Given the description of an element on the screen output the (x, y) to click on. 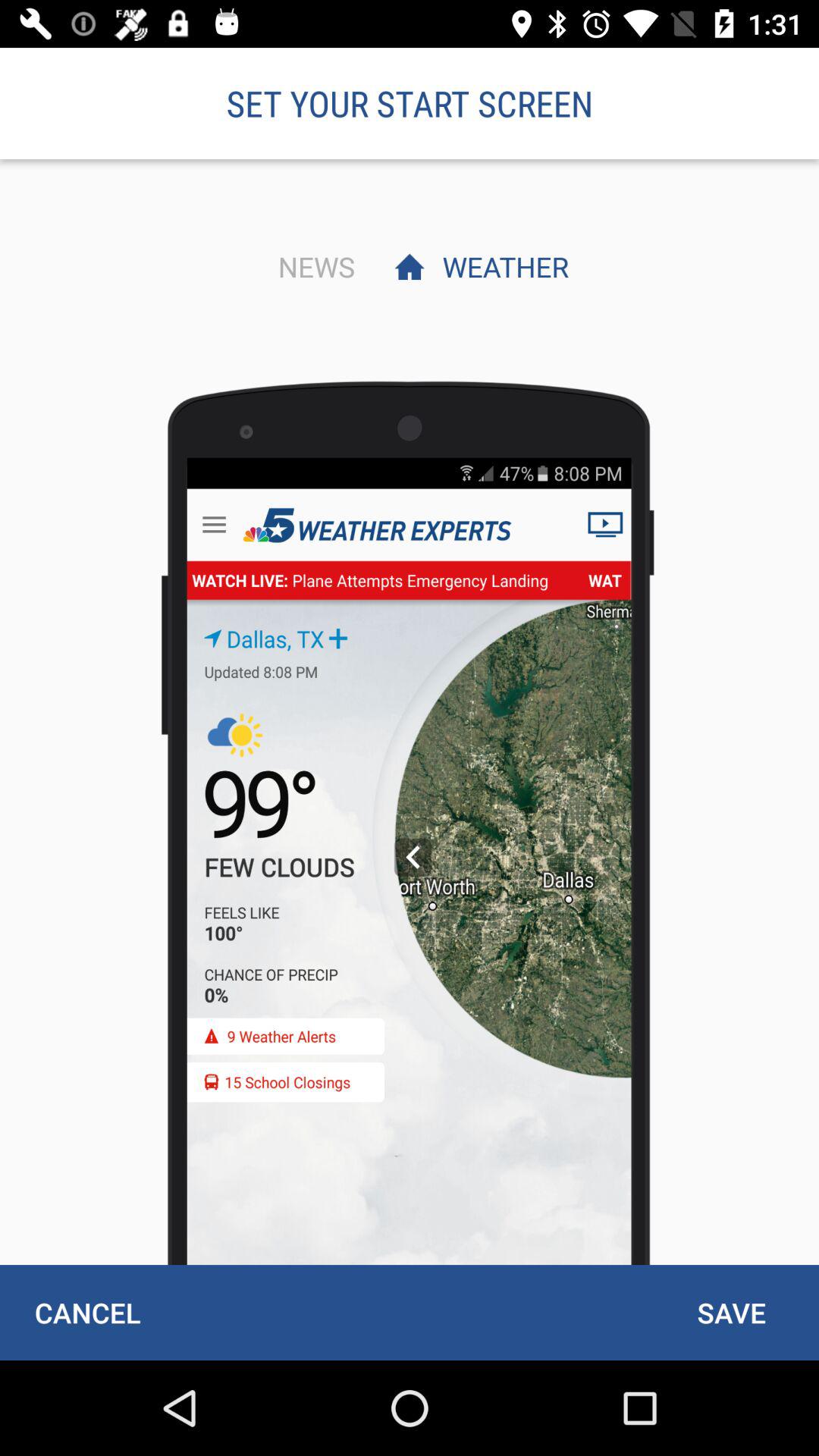
press the item to the left of weather item (312, 266)
